Given the description of an element on the screen output the (x, y) to click on. 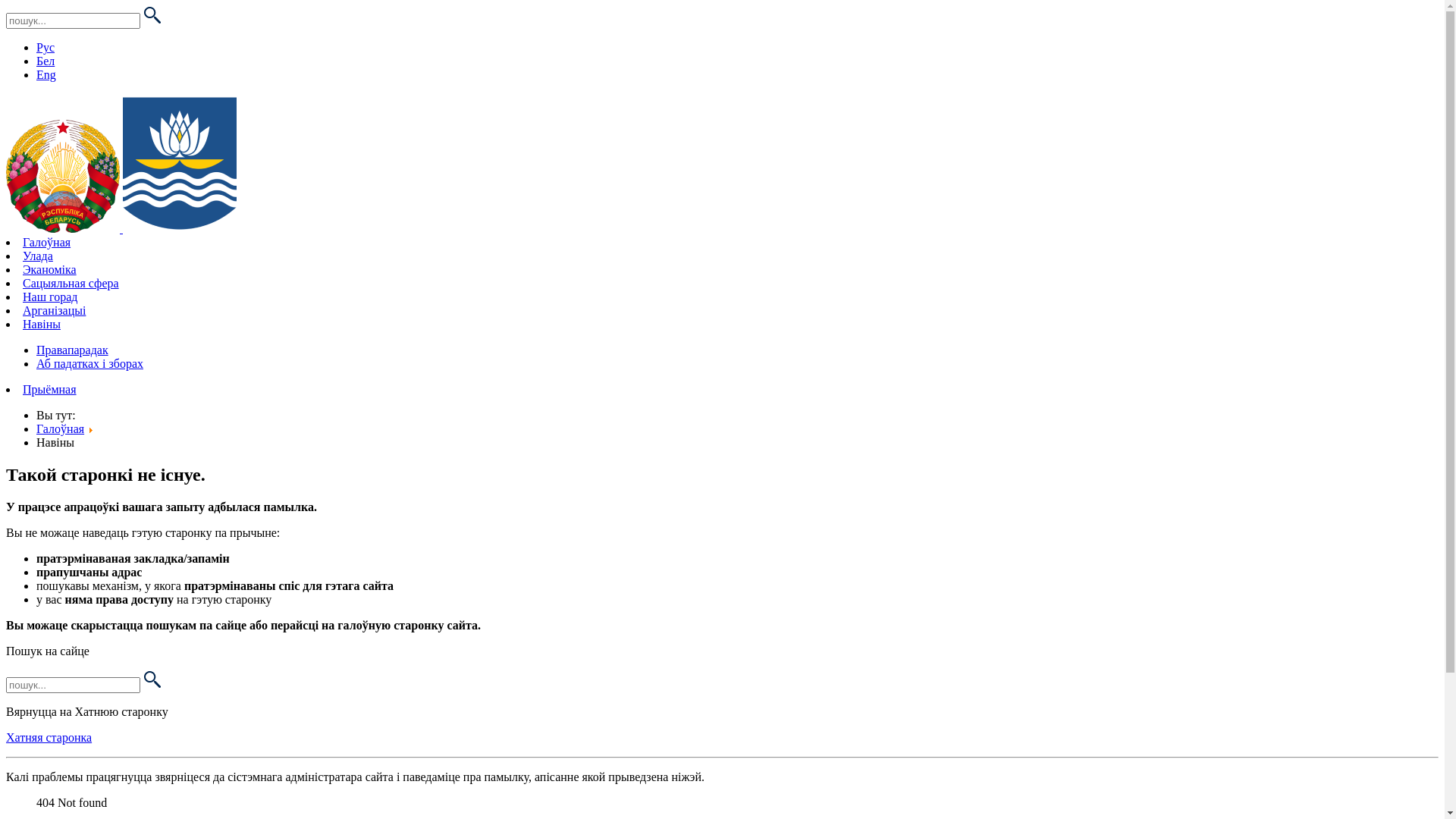
Eng Element type: text (46, 74)
